Given the description of an element on the screen output the (x, y) to click on. 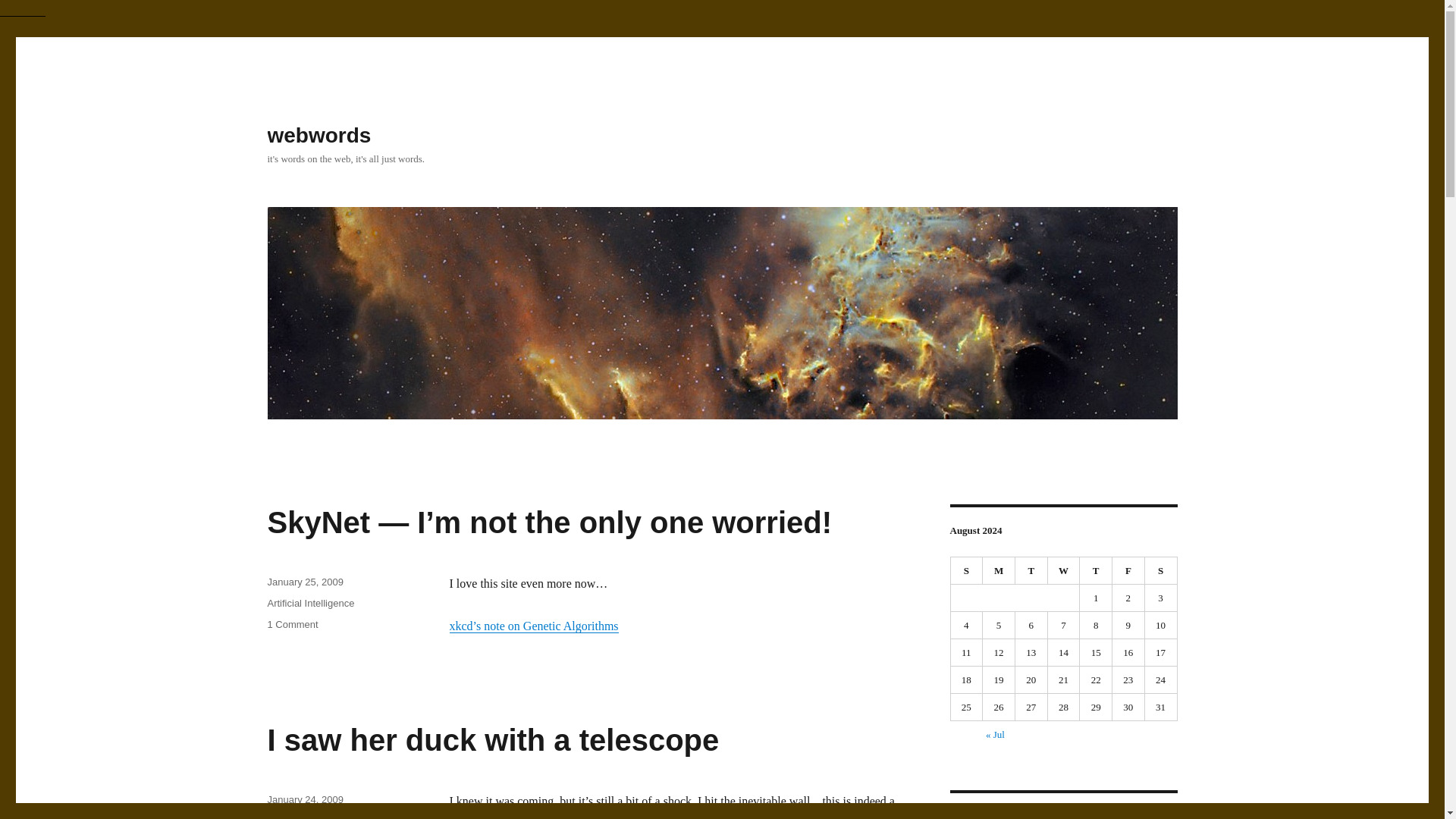
Sunday (967, 570)
Saturday (1160, 570)
Artificial Intelligence (309, 603)
January 24, 2009 (304, 799)
A word to the wise? (532, 625)
I saw her duck with a telescope (492, 739)
webwords (318, 135)
Thursday (1096, 570)
Monday (998, 570)
January 25, 2009 (304, 582)
